Given the description of an element on the screen output the (x, y) to click on. 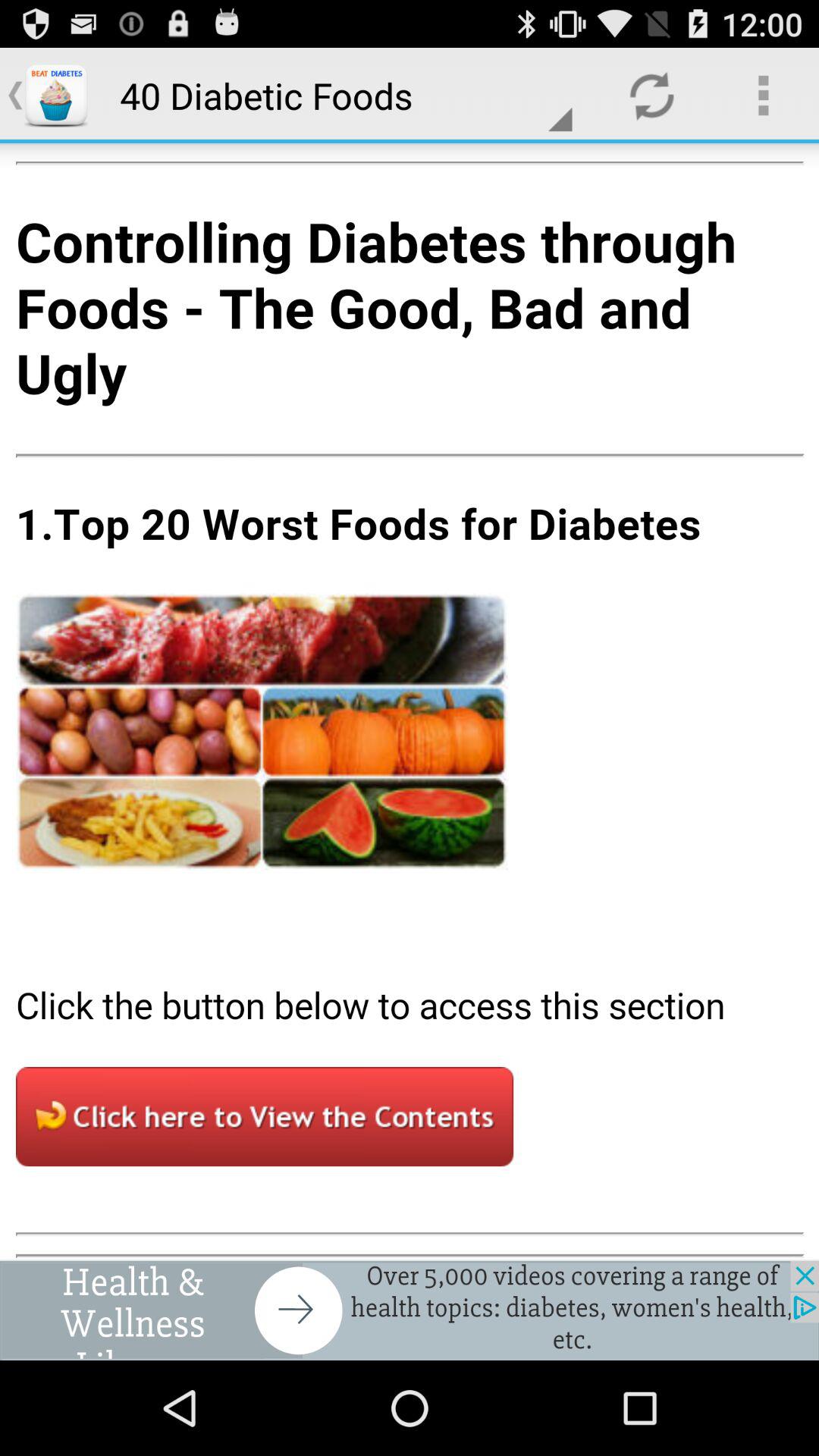
item description (409, 701)
